Given the description of an element on the screen output the (x, y) to click on. 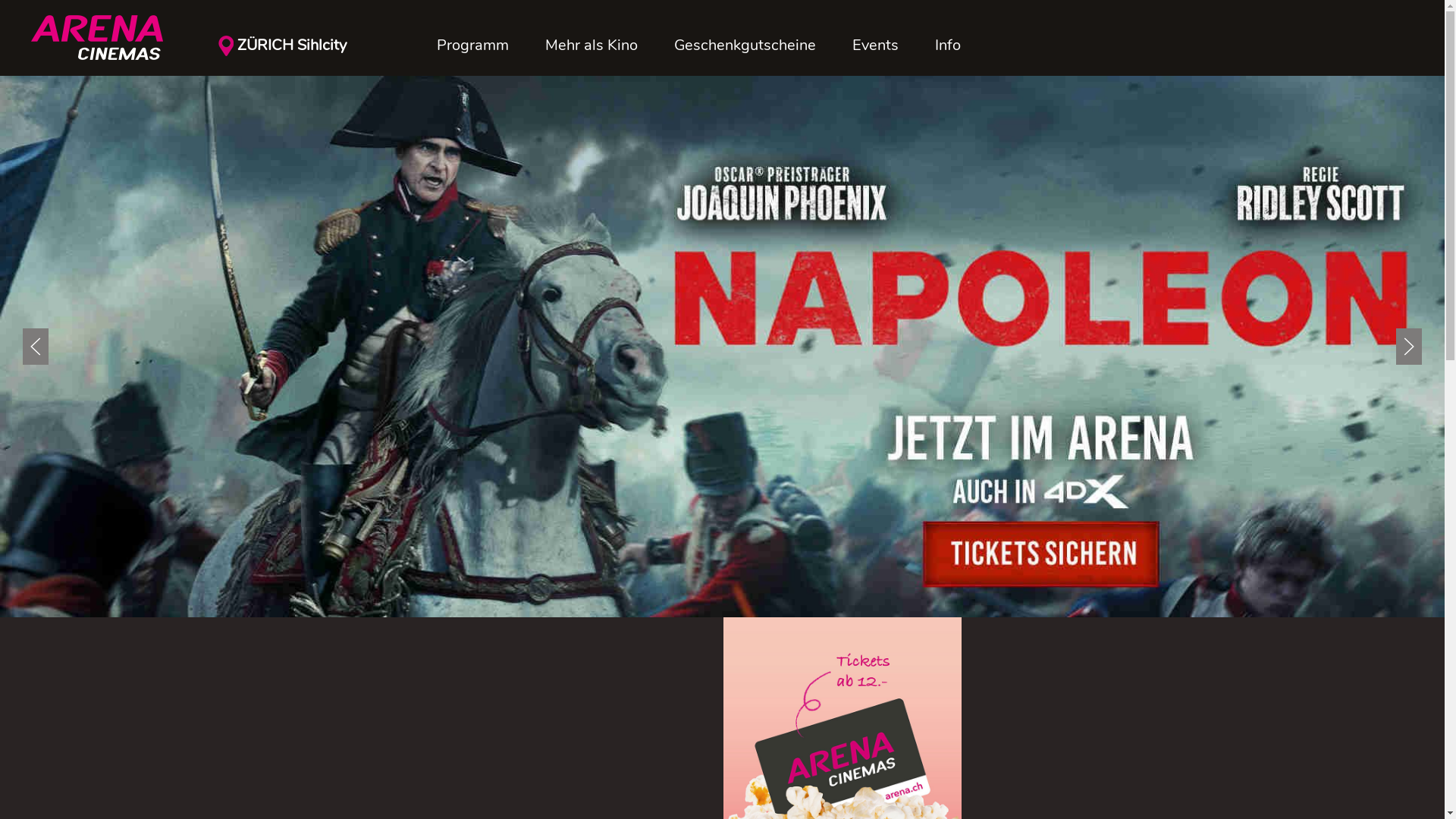
Geschenkgutscheine Element type: text (744, 45)
Programm Element type: text (472, 45)
Info Element type: text (947, 45)
Mehr als Kino Element type: text (591, 45)
Events Element type: text (875, 45)
